Given the description of an element on the screen output the (x, y) to click on. 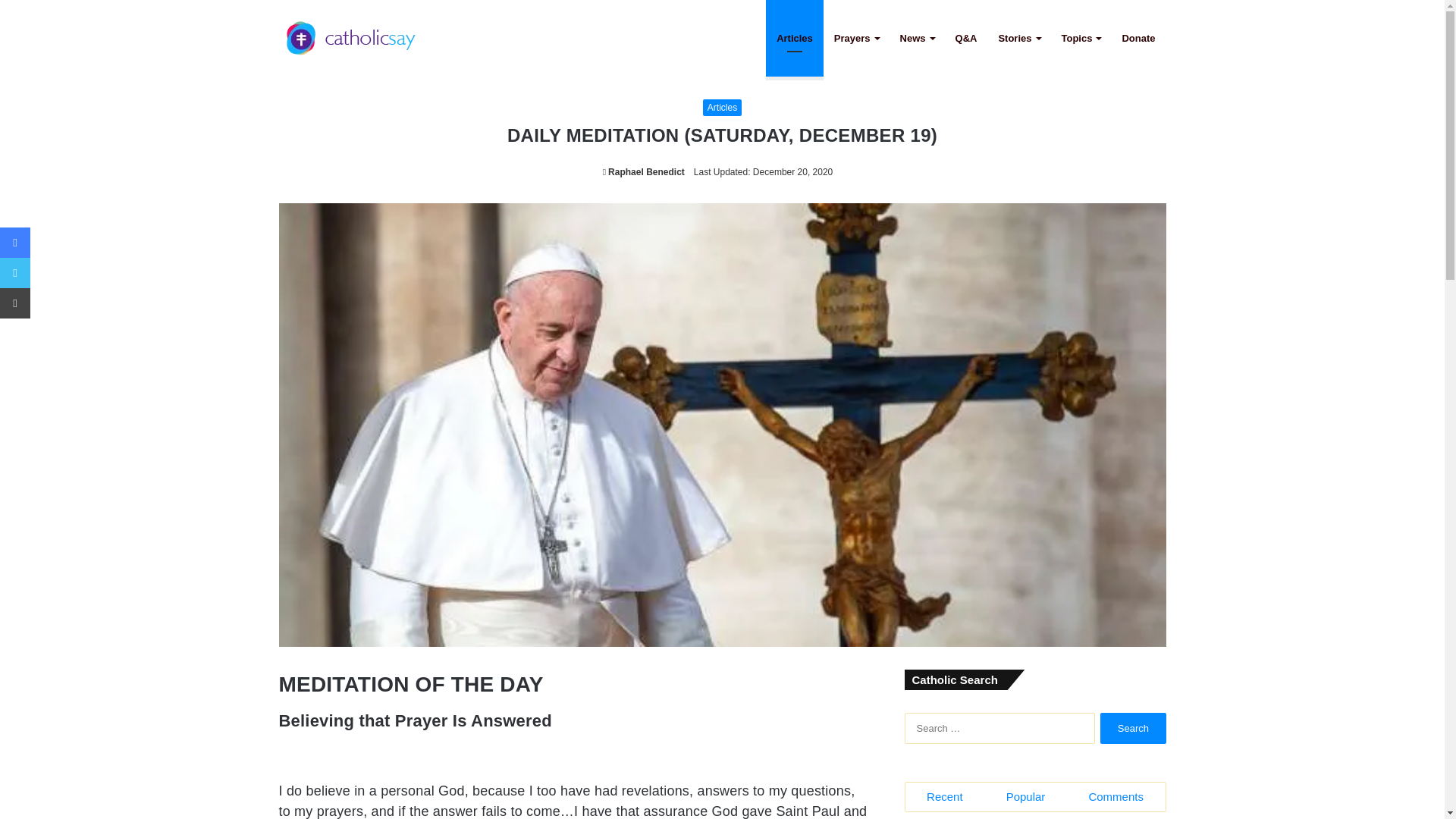
Articles (722, 107)
Catholic Say (351, 38)
Search (1133, 727)
Facebook (15, 242)
Twitter (15, 272)
Raphael Benedict (643, 172)
Print (15, 303)
Raphael Benedict (643, 172)
Search (1133, 727)
